Given the description of an element on the screen output the (x, y) to click on. 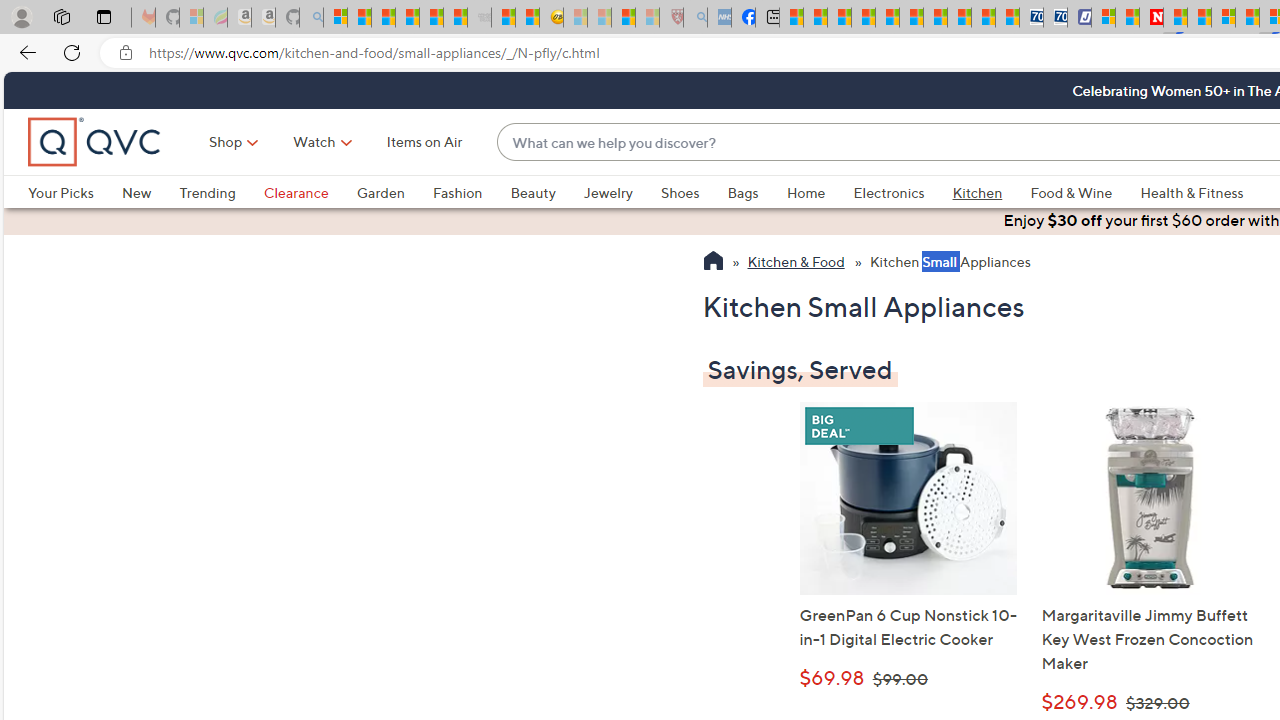
Jewelry (607, 192)
Shoes (680, 192)
Kitchen (991, 192)
Bags (743, 192)
QVC home (95, 141)
Clearance (295, 192)
12 Popular Science Lies that Must be Corrected - Sleeping (647, 17)
